Given the description of an element on the screen output the (x, y) to click on. 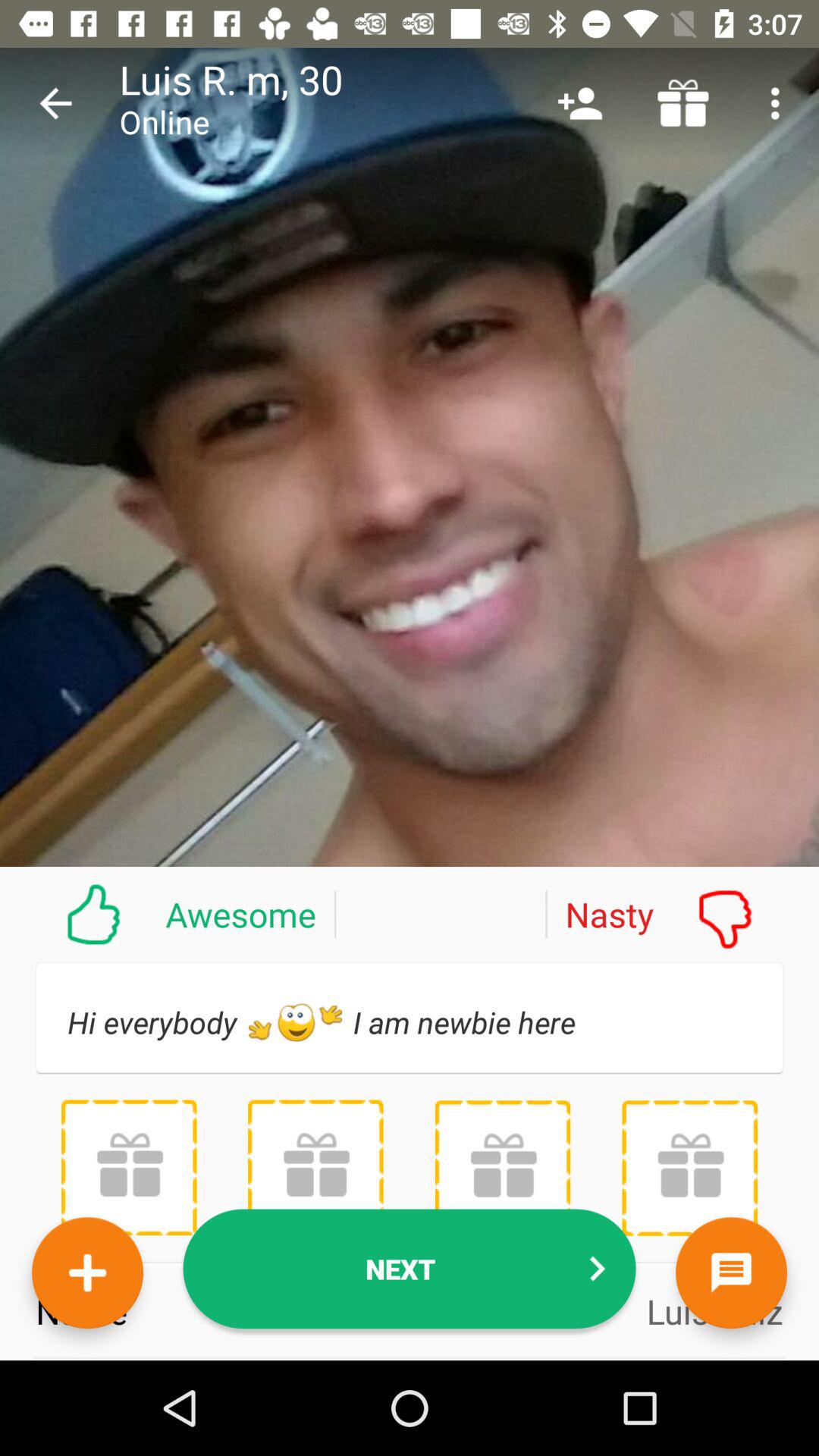
add to favorites (87, 1272)
